Given the description of an element on the screen output the (x, y) to click on. 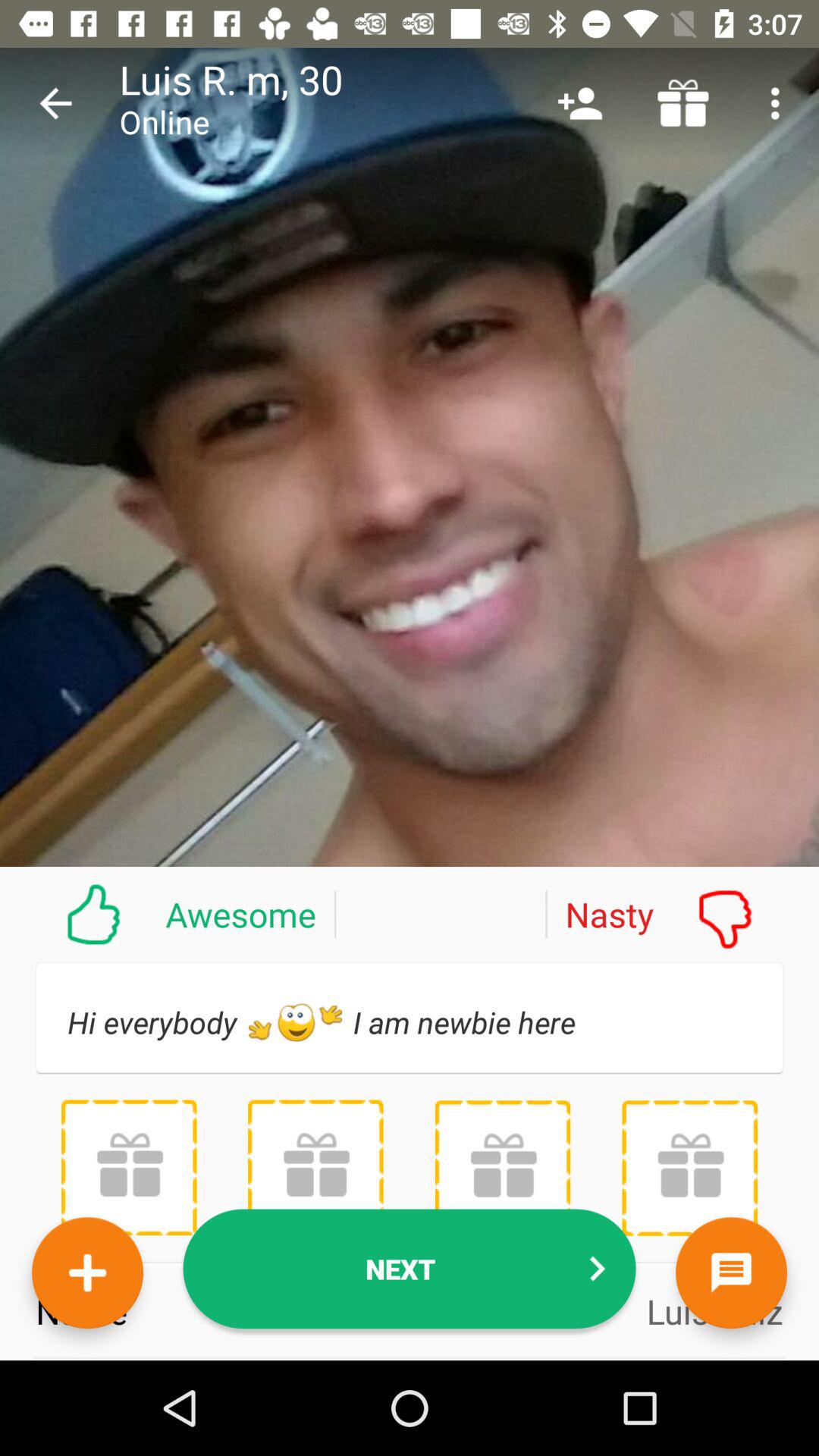
add to favorites (87, 1272)
